Given the description of an element on the screen output the (x, y) to click on. 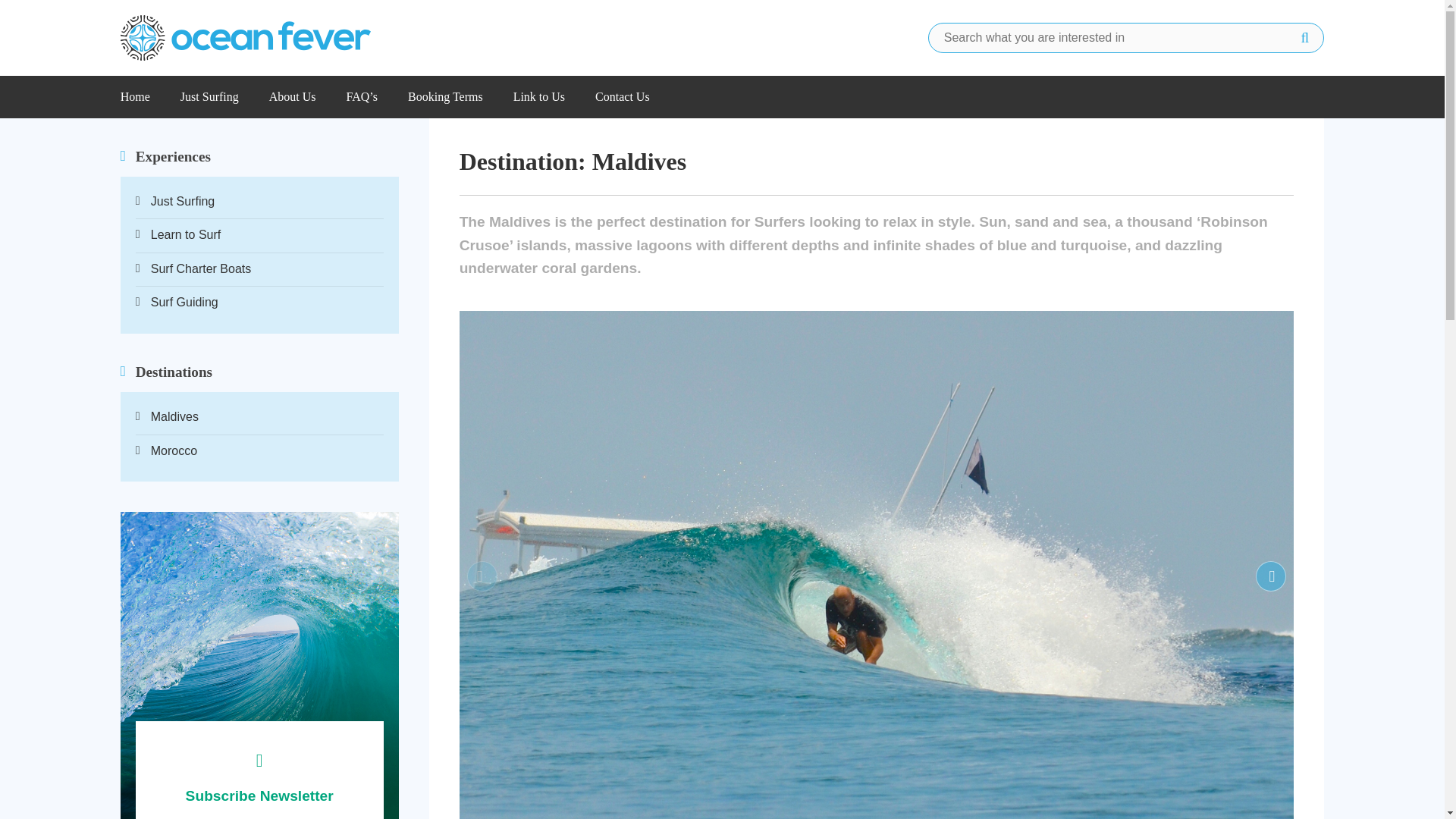
Contact Us (622, 96)
Subscribe Newsletter (259, 770)
View all packages in Surf Charter Boats (259, 273)
View all packages in Just Surfing (259, 205)
View all packages in Learn to Surf (259, 239)
Maldives (259, 420)
Surf Charter Boats (259, 273)
Morocco (259, 451)
About Us (292, 96)
View all packages in Morocco (259, 451)
Surf Guiding (259, 302)
Link to Us (538, 96)
Learn to Surf (259, 239)
Just Surfing (259, 205)
Booking Terms (445, 96)
